Given the description of an element on the screen output the (x, y) to click on. 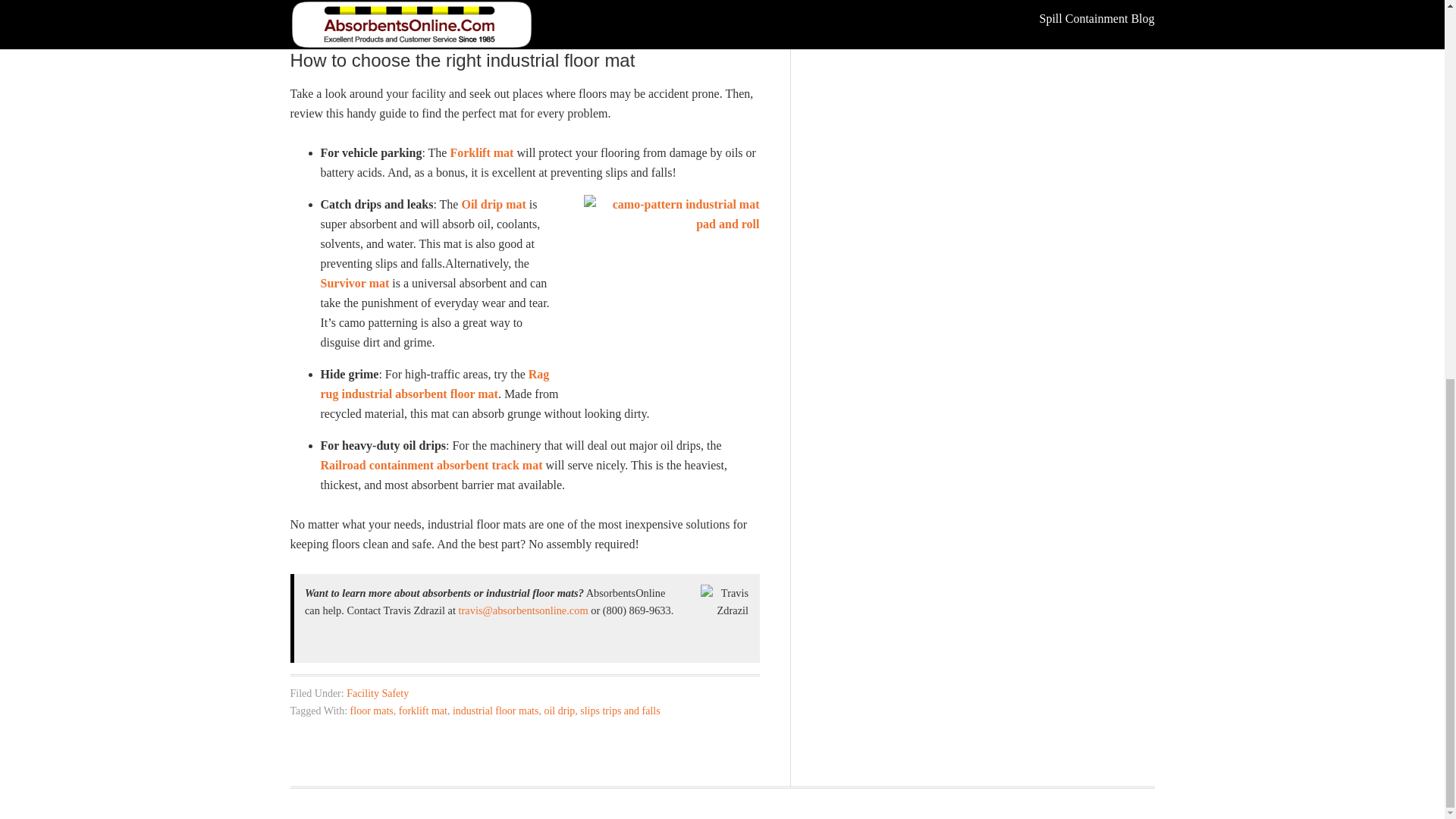
Railroad containment absorbent track mat (430, 464)
industrial floor mats (495, 710)
Forklift mat (481, 152)
slips trips and falls (619, 710)
Survivor mat (354, 282)
Oil drip mat (493, 204)
Facility Safety (377, 693)
oil drip (559, 710)
Rag rug industrial absorbent floor mat (434, 383)
floor mats (371, 710)
forklift mat (422, 710)
